Given the description of an element on the screen output the (x, y) to click on. 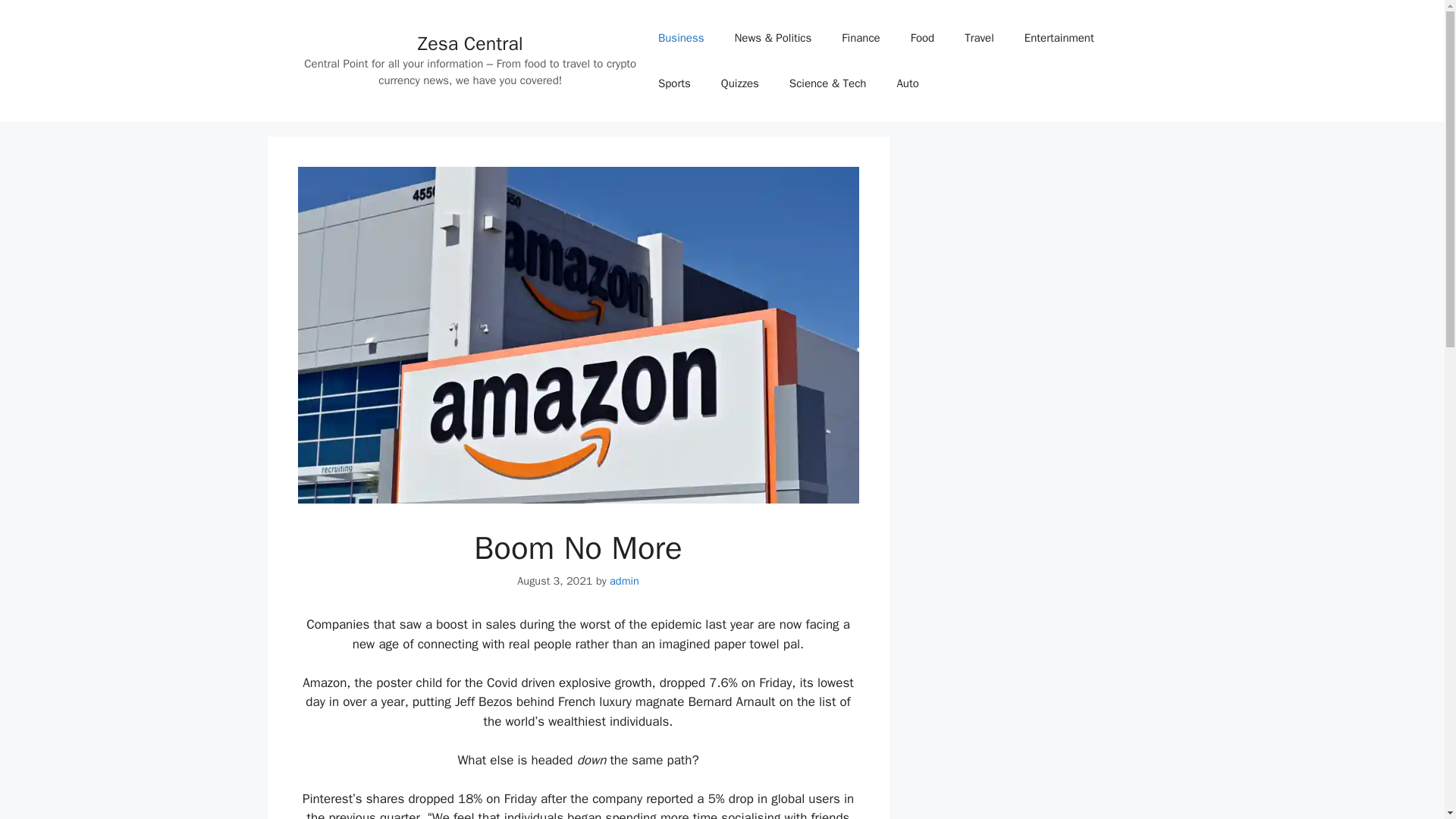
Zesa Central (469, 43)
Food (922, 37)
Travel (979, 37)
admin (624, 581)
Finance (861, 37)
Sports (674, 83)
View all posts by admin (624, 581)
Quizzes (740, 83)
Business (681, 37)
Entertainment (1059, 37)
Auto (906, 83)
